Given the description of an element on the screen output the (x, y) to click on. 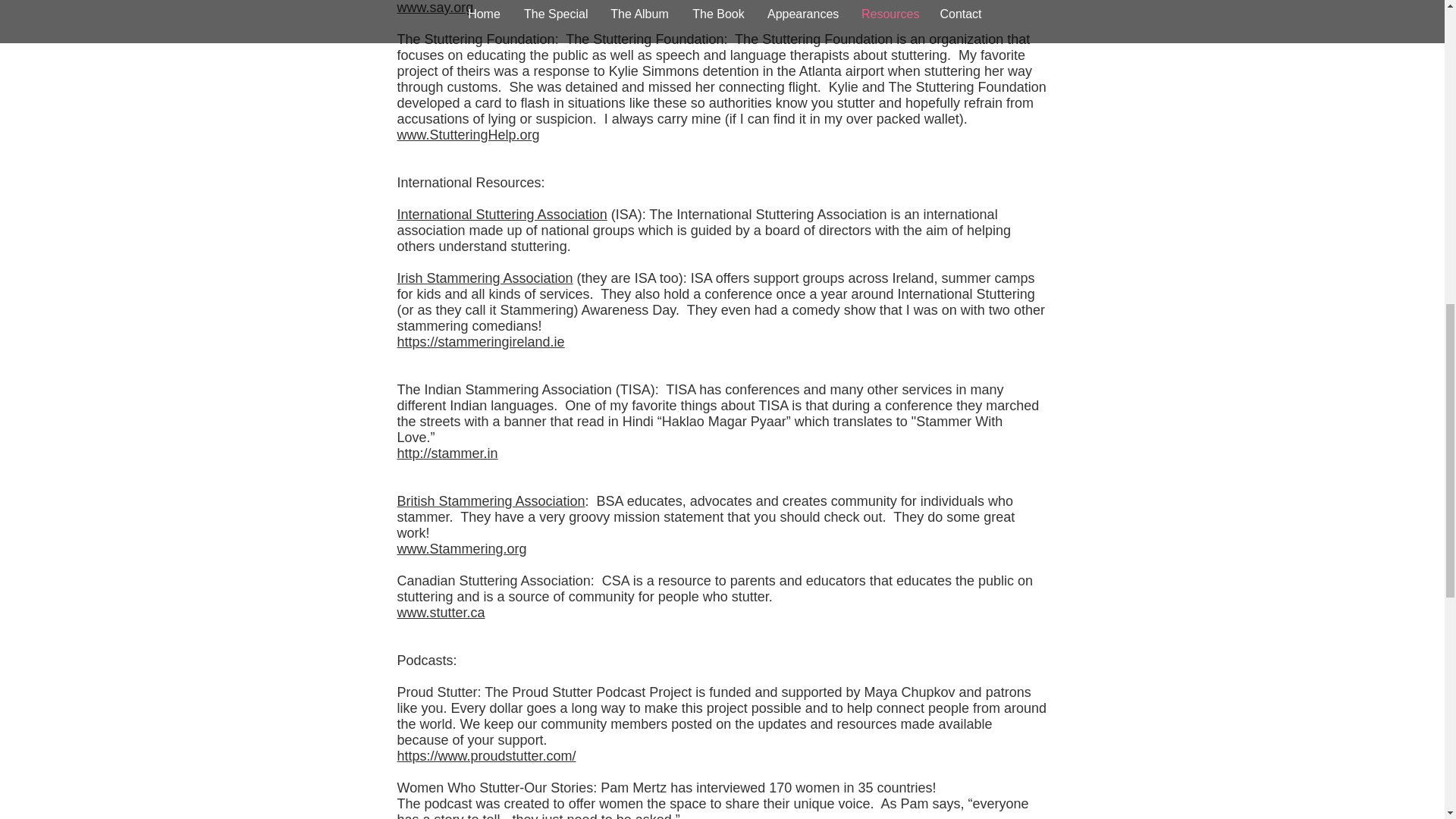
www.stutter.ca (440, 612)
www.Stammering.org (462, 548)
www.say.org (435, 7)
www.StutteringHelp.org (468, 134)
Irish Stammering Association (485, 278)
International Stuttering Association (502, 214)
British Stammering Association (491, 500)
